Given the description of an element on the screen output the (x, y) to click on. 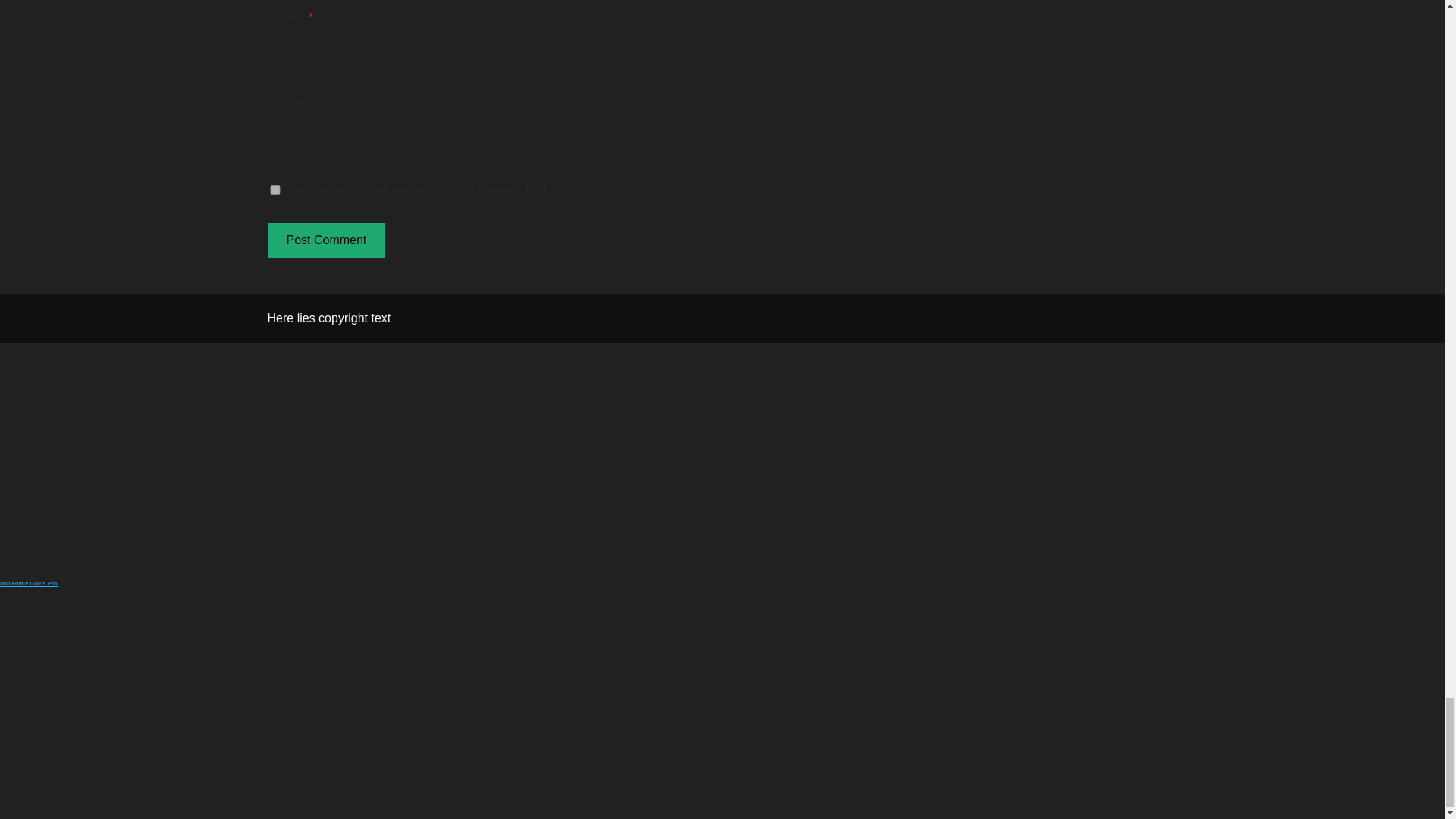
Post Comment (325, 239)
Post Comment (325, 239)
LiveInternet (73, 581)
yes (274, 189)
